Given the description of an element on the screen output the (x, y) to click on. 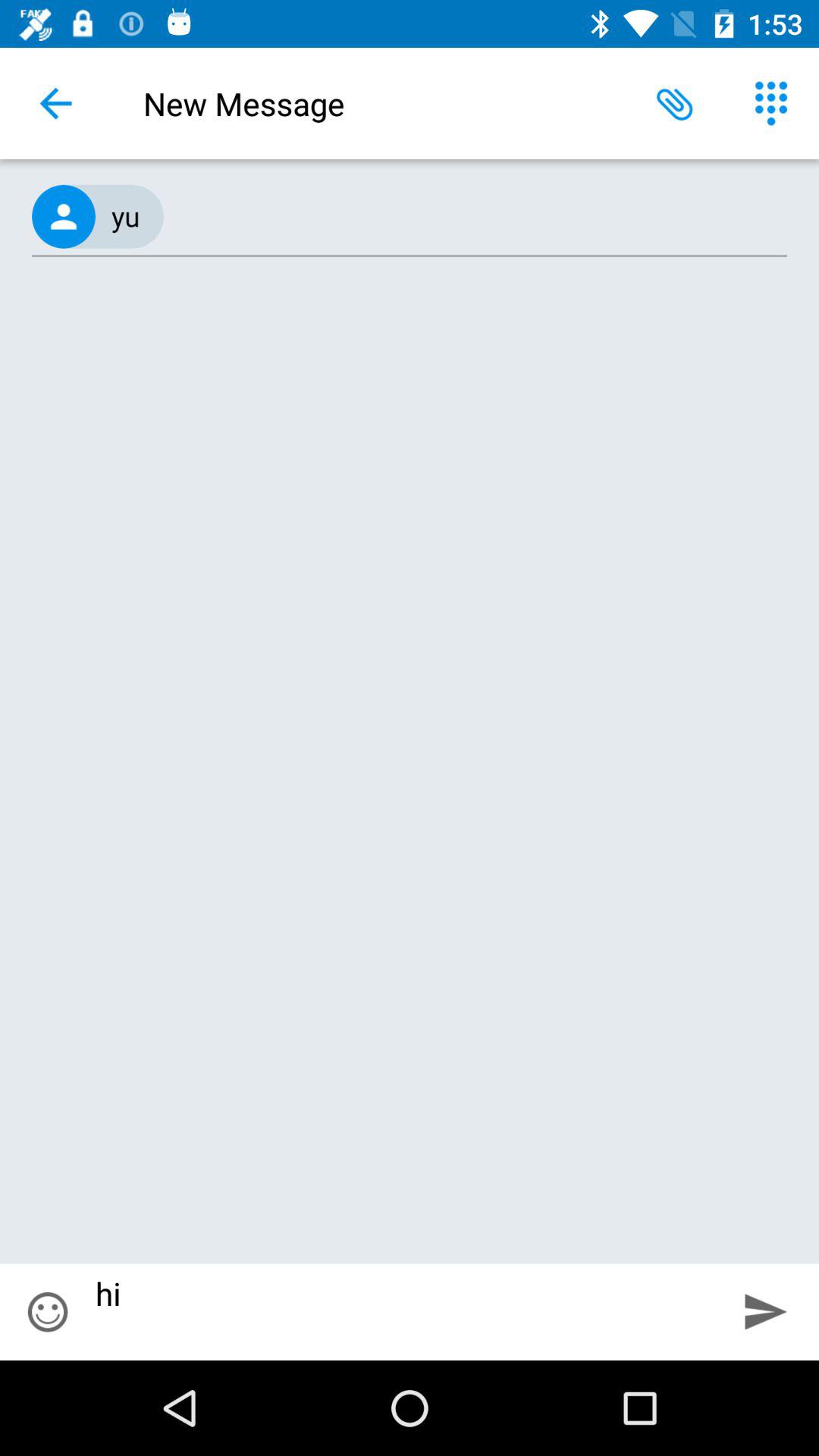
press the item next to new message (675, 103)
